Given the description of an element on the screen output the (x, y) to click on. 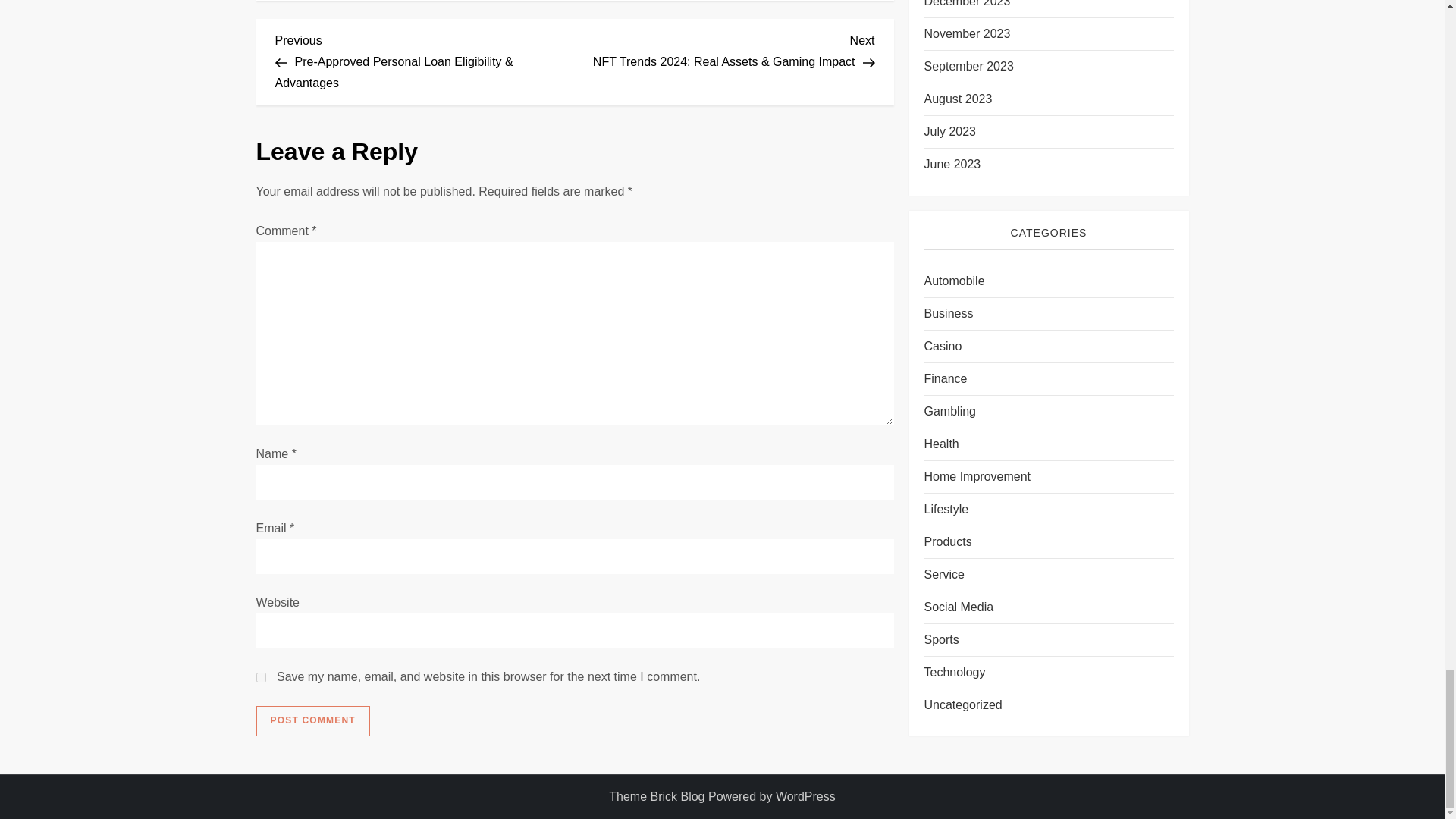
yes (261, 677)
Post Comment (312, 720)
Post Comment (312, 720)
